Given the description of an element on the screen output the (x, y) to click on. 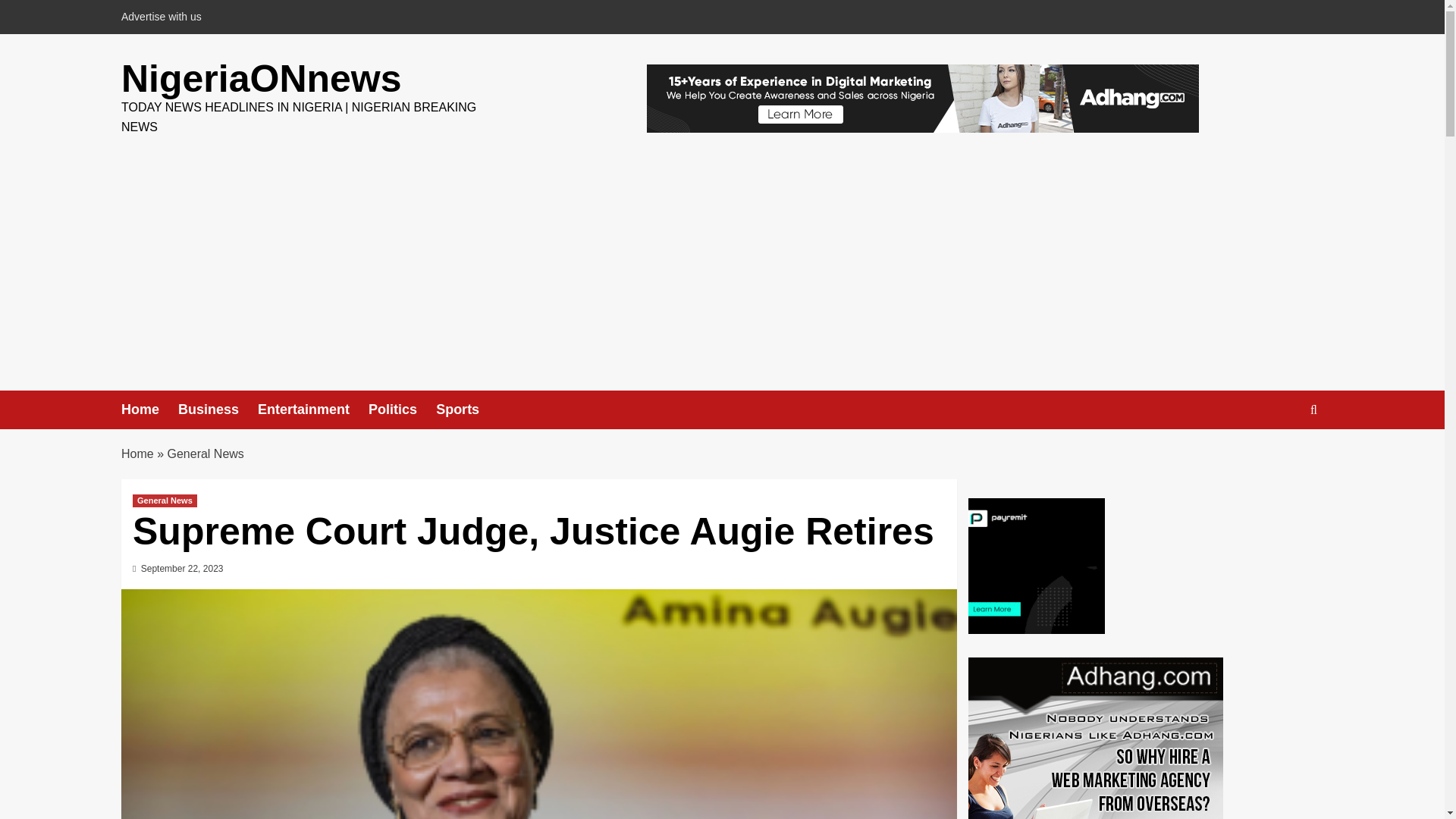
Advertise with us (164, 17)
Home (148, 409)
General News (164, 500)
Entertainment (312, 409)
Politics (401, 409)
General News (205, 453)
September 22, 2023 (182, 568)
Business (217, 409)
